Given the description of an element on the screen output the (x, y) to click on. 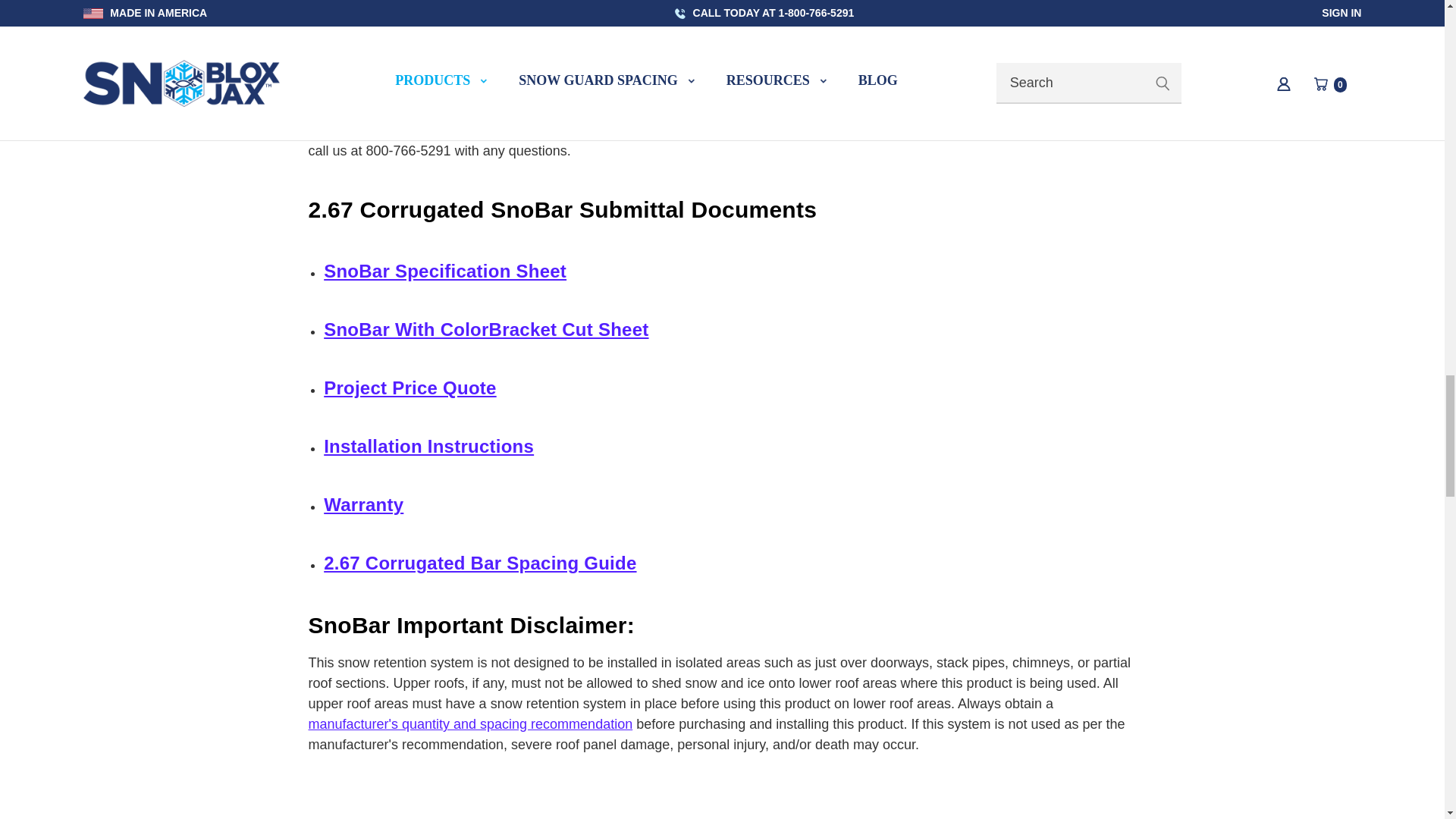
2.67 Corrugated Bar Spacing Guide (479, 562)
Snow Rails Quote Request (1032, 130)
Installation Instructions (428, 445)
